Given the description of an element on the screen output the (x, y) to click on. 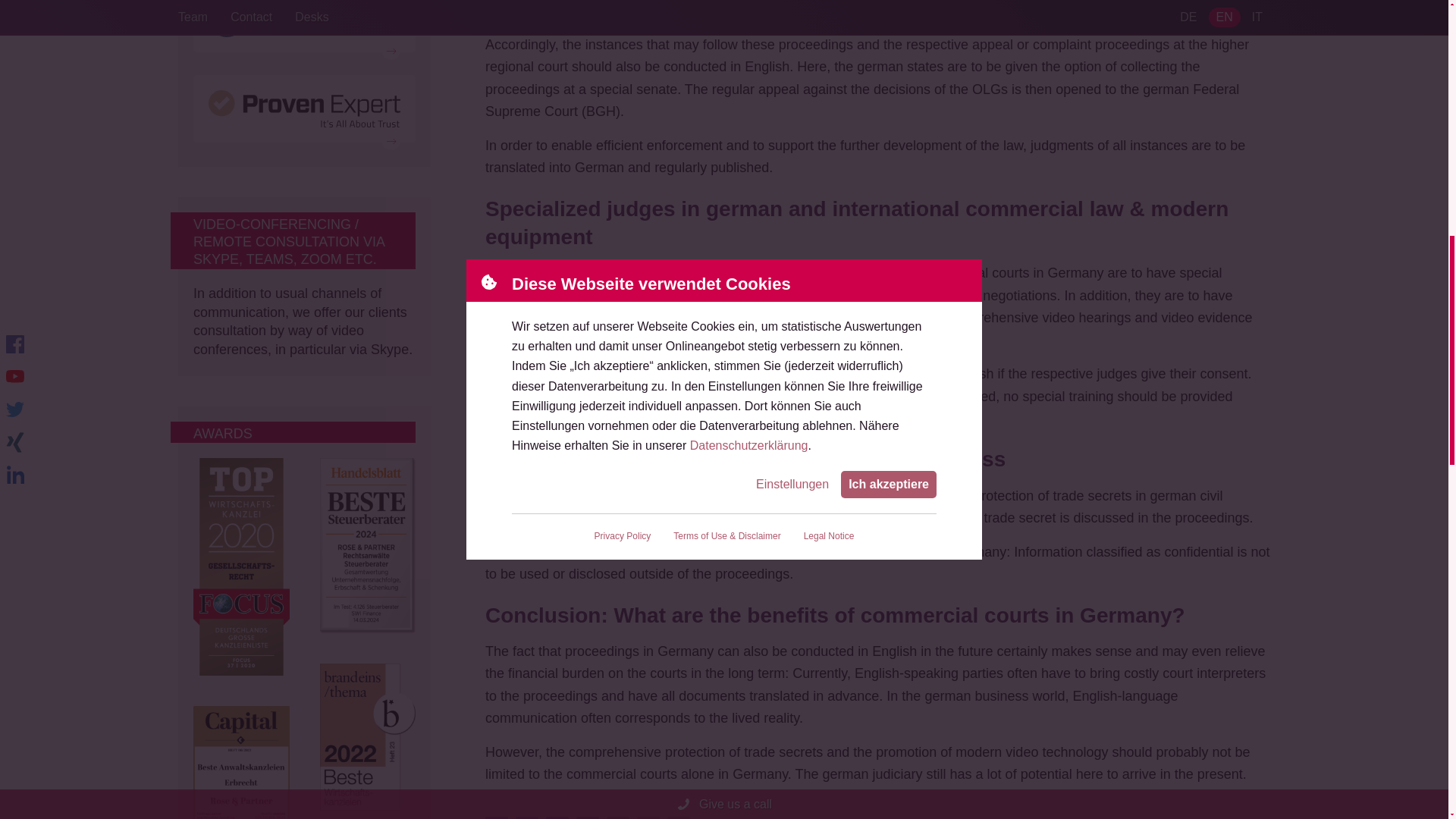
Facebook (496, 817)
Bei Facebook teilen (496, 817)
Bei Whatsapp teilen (617, 817)
Drucken (678, 817)
Whatsapp (617, 817)
LinkedIn (557, 817)
XING (587, 817)
Bei Twitter teilen (526, 817)
Seite Drucken (678, 817)
Twitter (526, 817)
Bei LinkedIn teilen (557, 817)
Bei XING teilen (587, 817)
E-Mail (648, 817)
Per E-Mail versenden (648, 817)
